Given the description of an element on the screen output the (x, y) to click on. 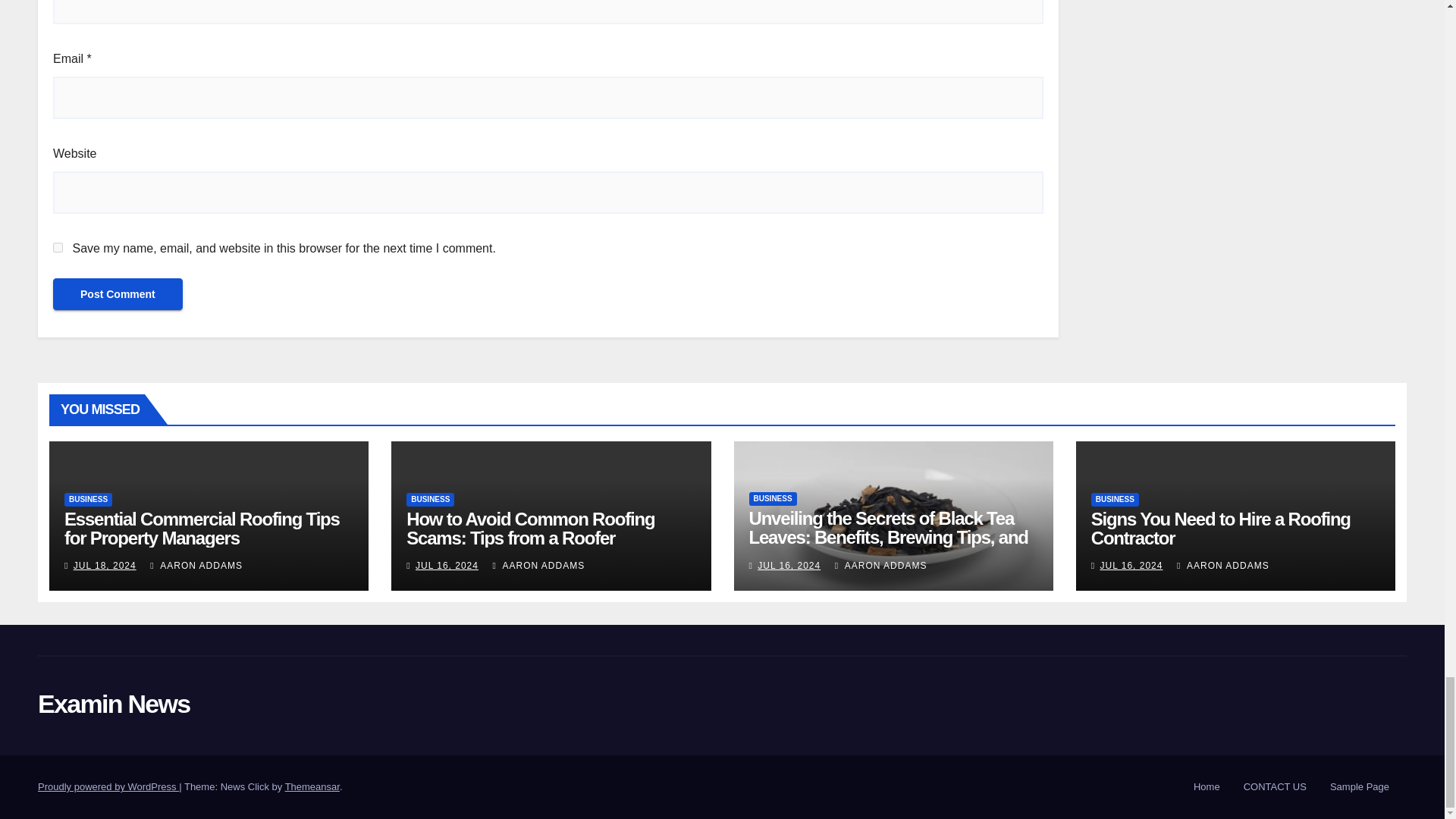
yes (57, 247)
Home (1206, 786)
Permalink to: Signs You Need to Hire a Roofing Contractor (1220, 527)
Post Comment (117, 294)
